Given the description of an element on the screen output the (x, y) to click on. 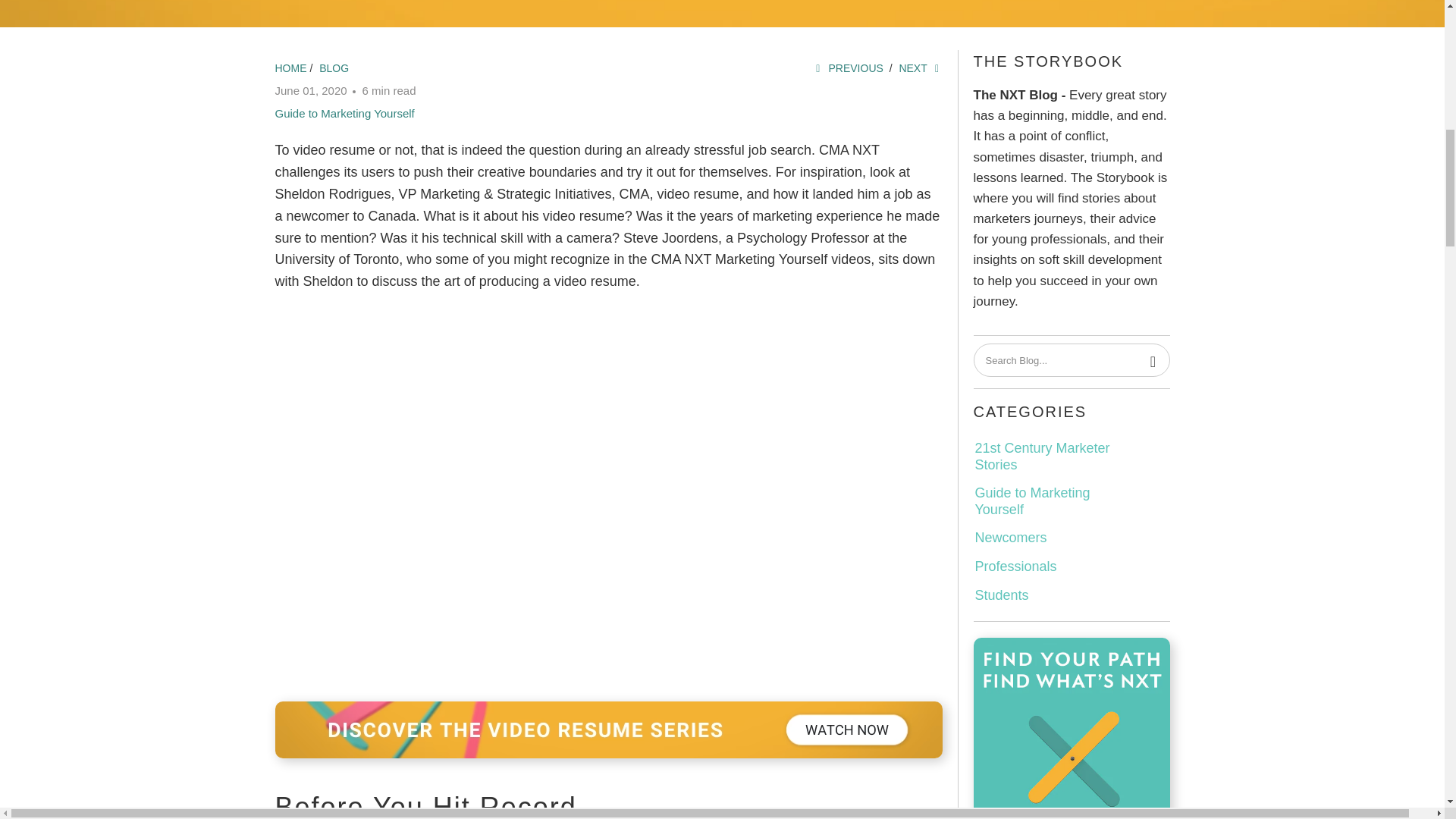
CMA NXT (290, 68)
Blog (333, 68)
Blog tagged Guide to Marketing Yourself (344, 113)
HOME (290, 68)
NEXT (920, 68)
PREVIOUS (846, 68)
Guide to Marketing Yourself (344, 113)
BLOG (333, 68)
